Given the description of an element on the screen output the (x, y) to click on. 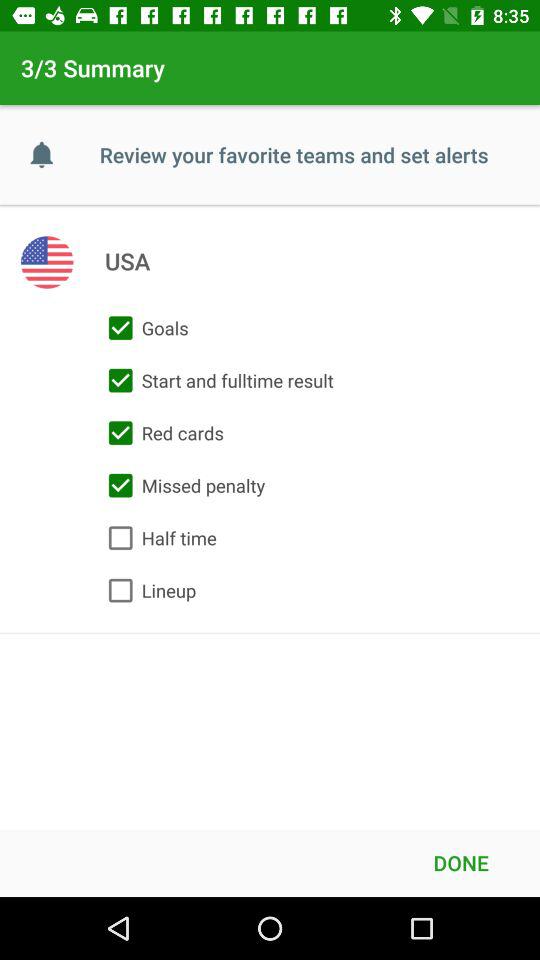
select icon above the missed penalty item (161, 433)
